Given the description of an element on the screen output the (x, y) to click on. 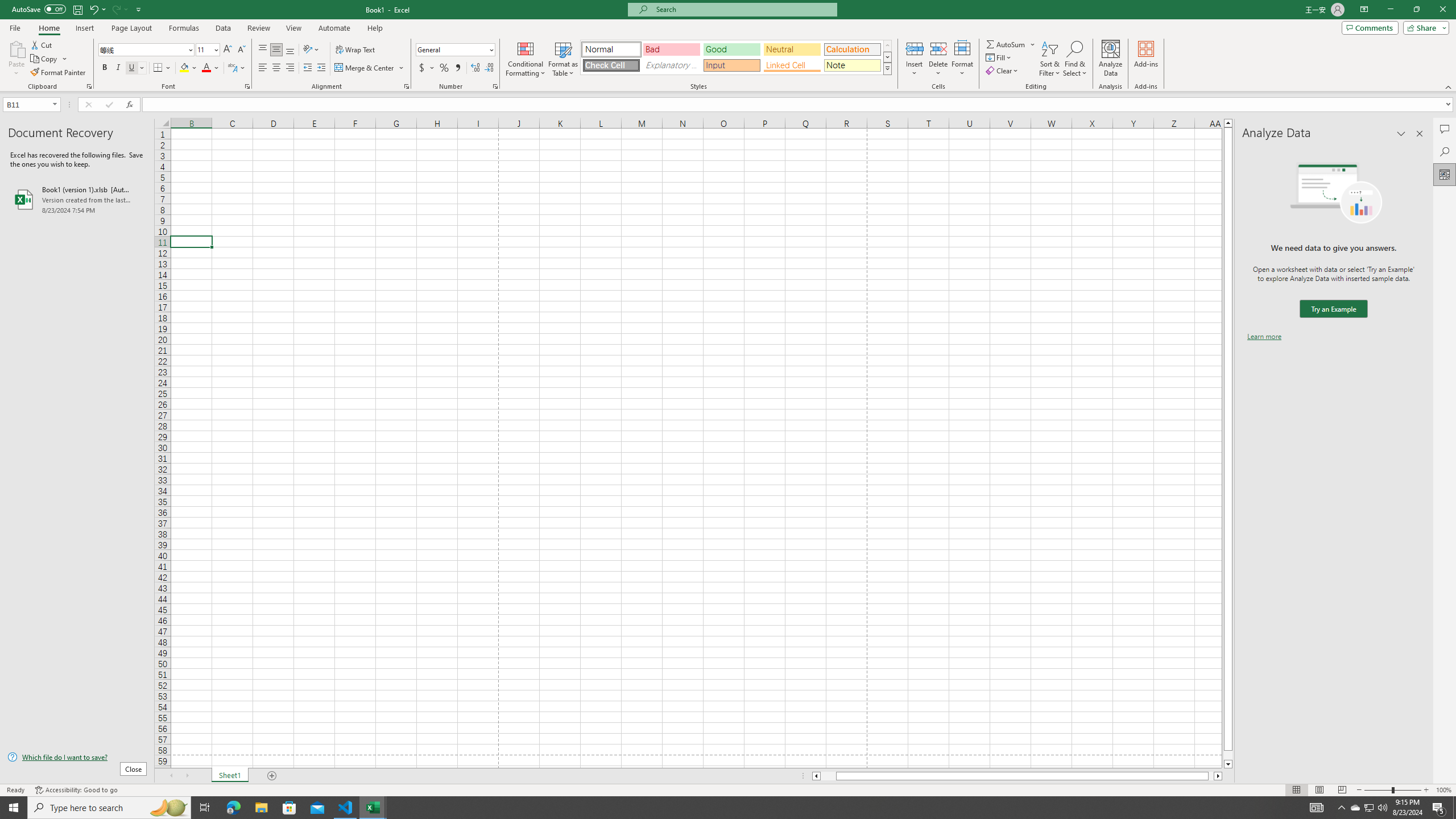
Page left (828, 775)
Percent Style (443, 67)
Font (142, 49)
Cell Styles (887, 68)
Class: MsoCommandBar (728, 45)
Merge & Center (369, 67)
Wrap Text (355, 49)
